Given the description of an element on the screen output the (x, y) to click on. 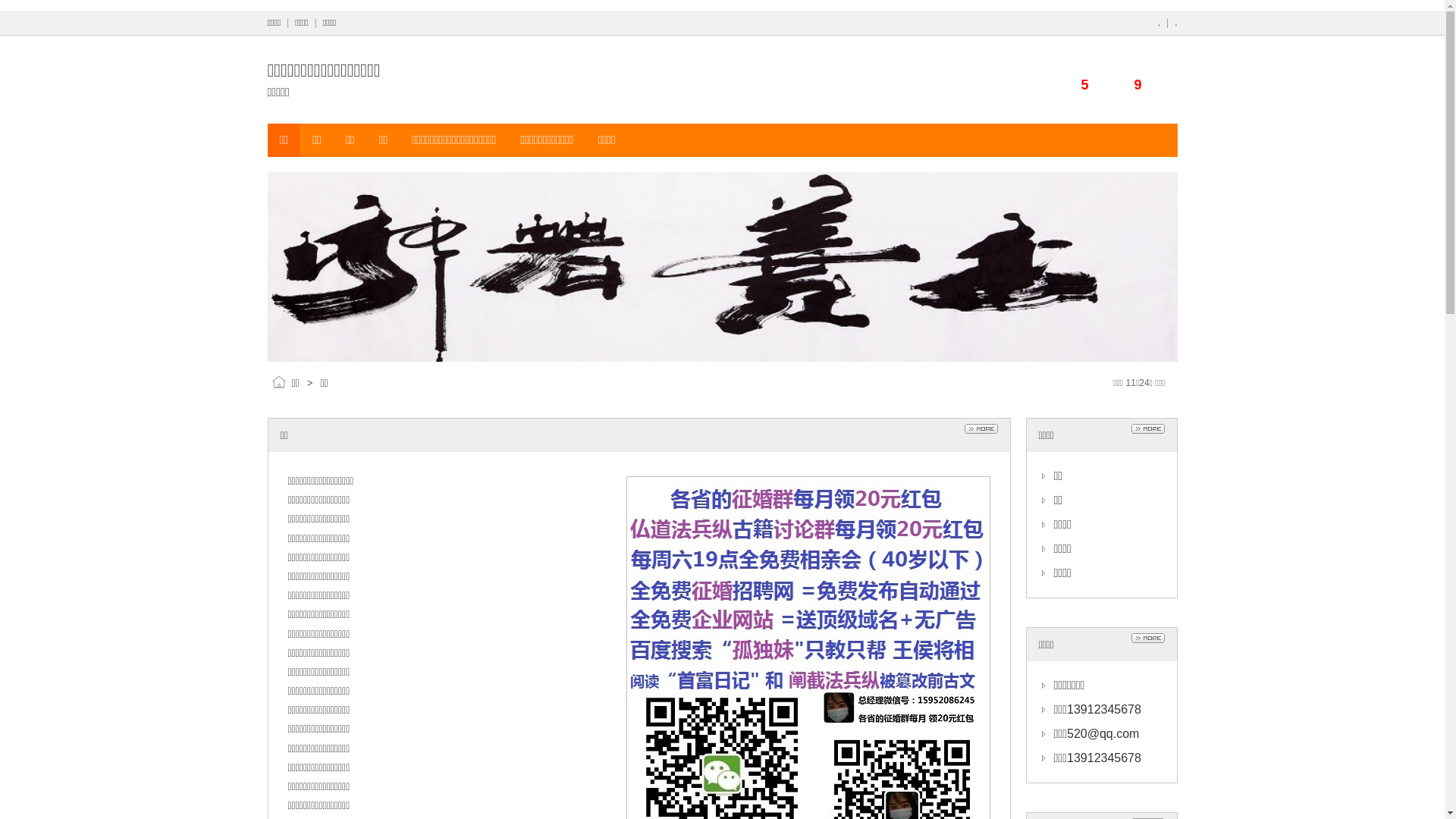
. Element type: text (1158, 22)
. Element type: text (1175, 22)
